Given the description of an element on the screen output the (x, y) to click on. 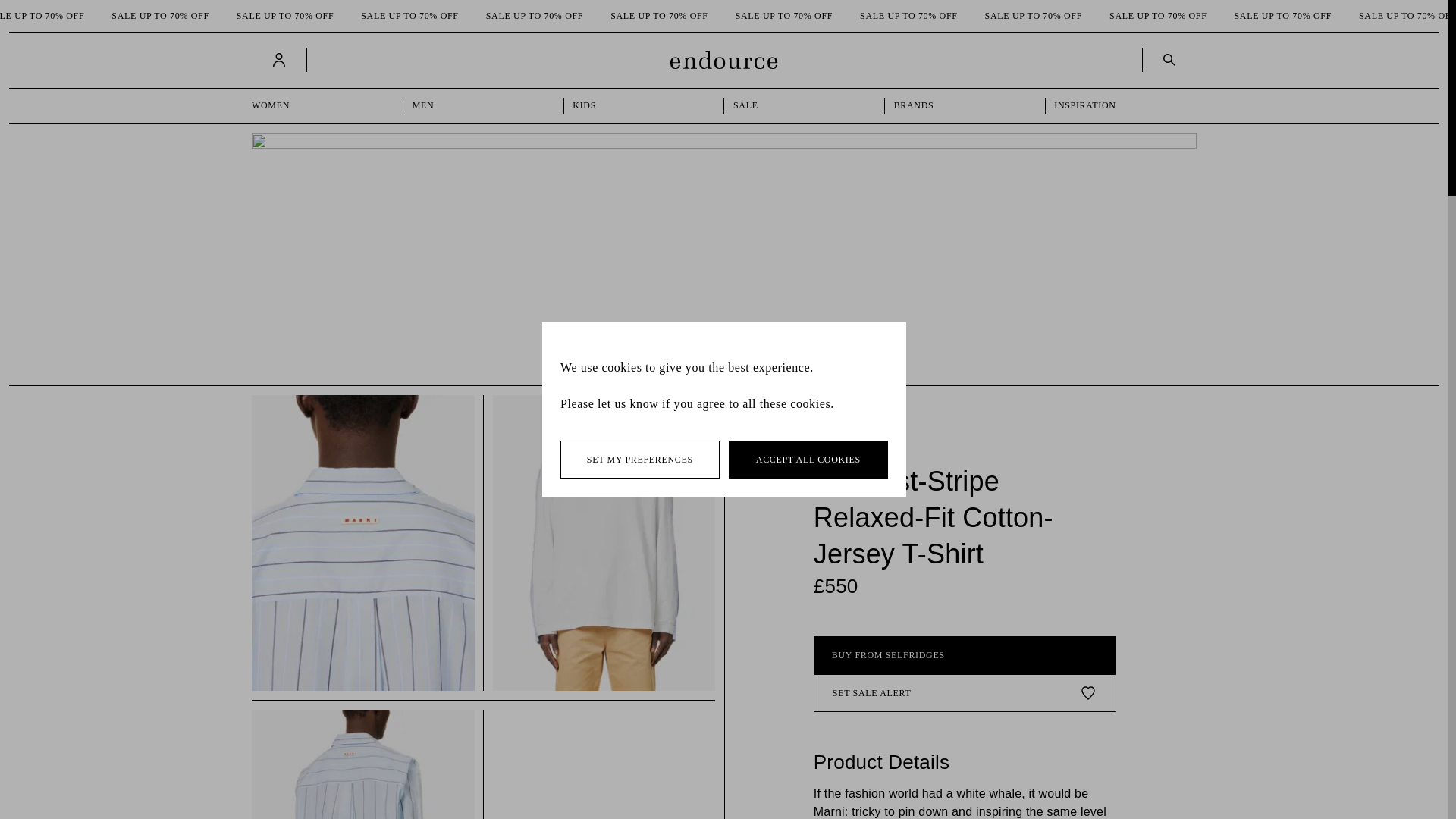
ACCOUNT (281, 59)
Account (278, 59)
Search (1166, 59)
WOMEN (323, 105)
Search (1168, 59)
